Given the description of an element on the screen output the (x, y) to click on. 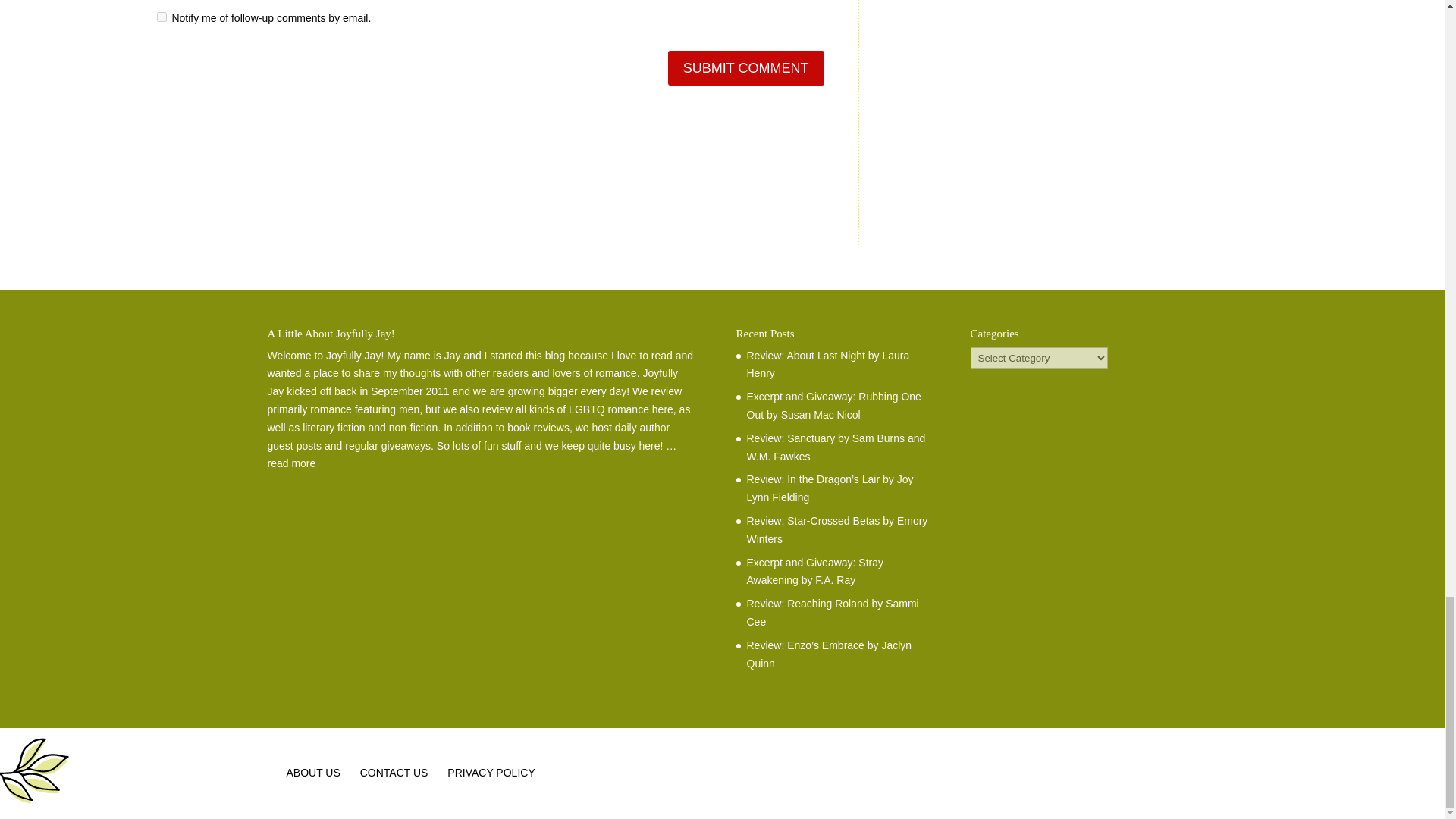
Submit Comment (746, 67)
subscribe (160, 17)
